Given the description of an element on the screen output the (x, y) to click on. 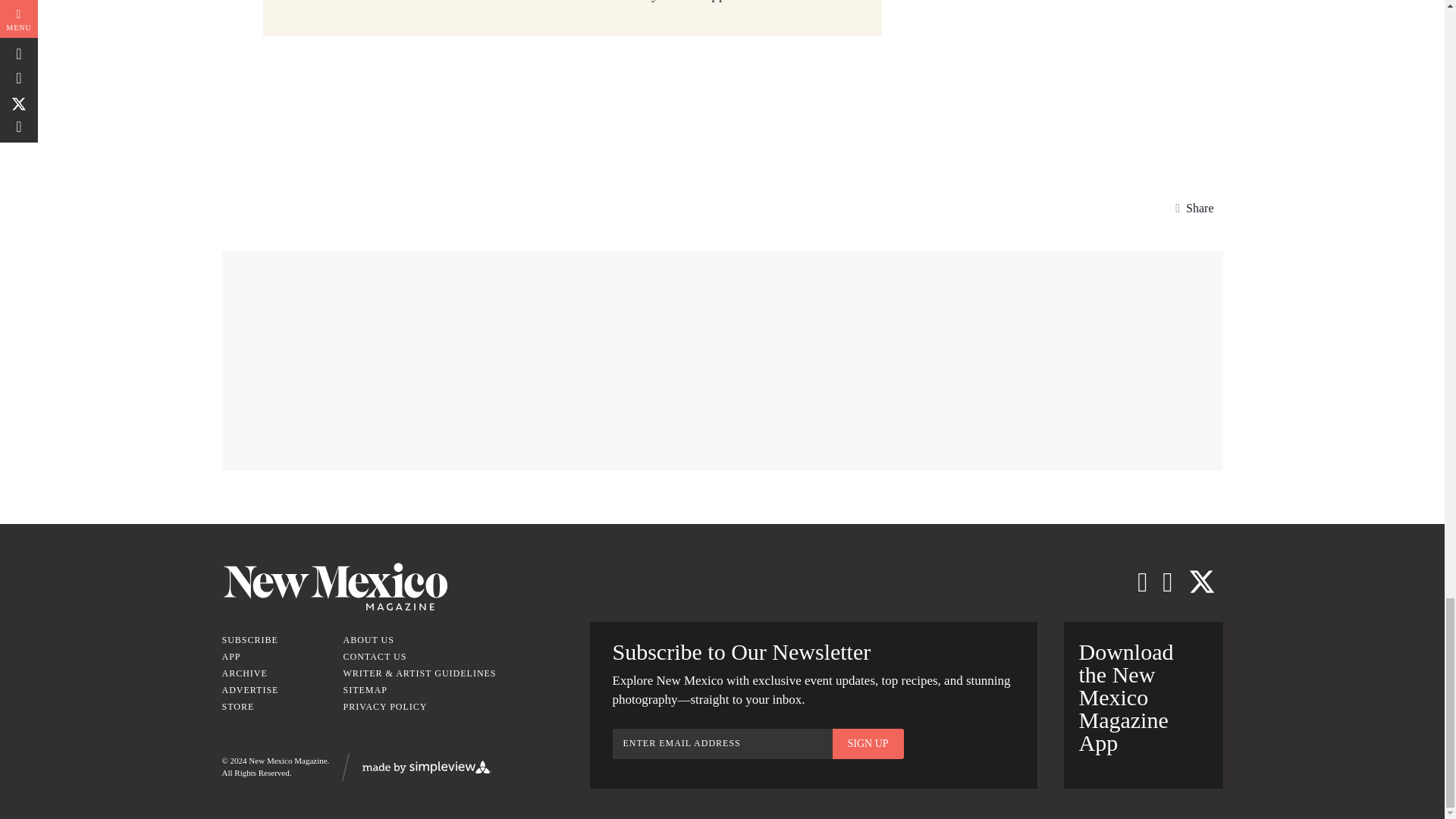
App (230, 656)
Contact Us (374, 656)
Visit our Twitter page (1201, 582)
Store (237, 706)
Subscribe (249, 639)
Sitemap (364, 689)
Advertise (249, 689)
Archive (243, 673)
About Us (367, 639)
